Given the description of an element on the screen output the (x, y) to click on. 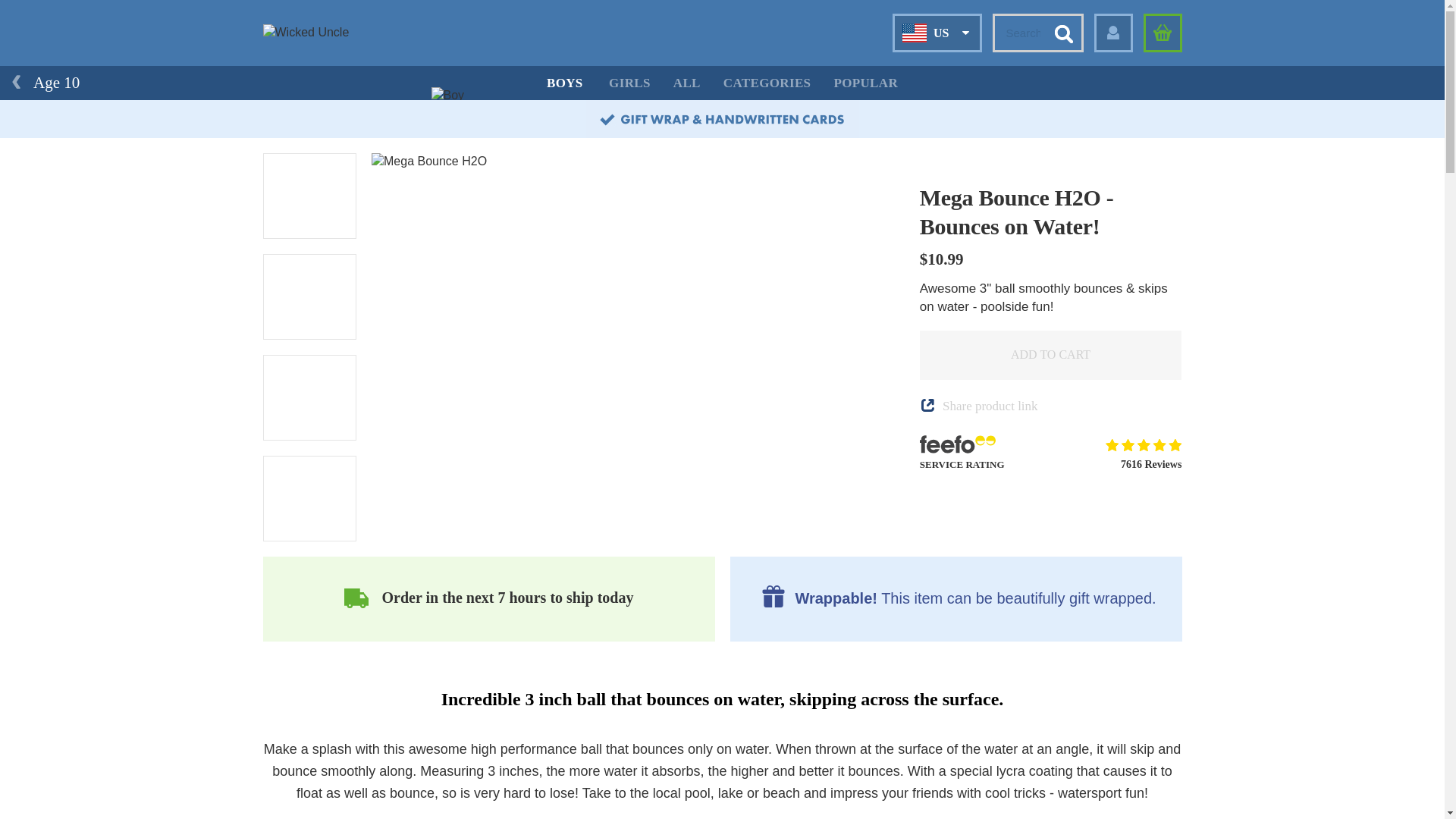
BOYS (564, 82)
GIRLS (629, 82)
UK (919, 66)
